Given the description of an element on the screen output the (x, y) to click on. 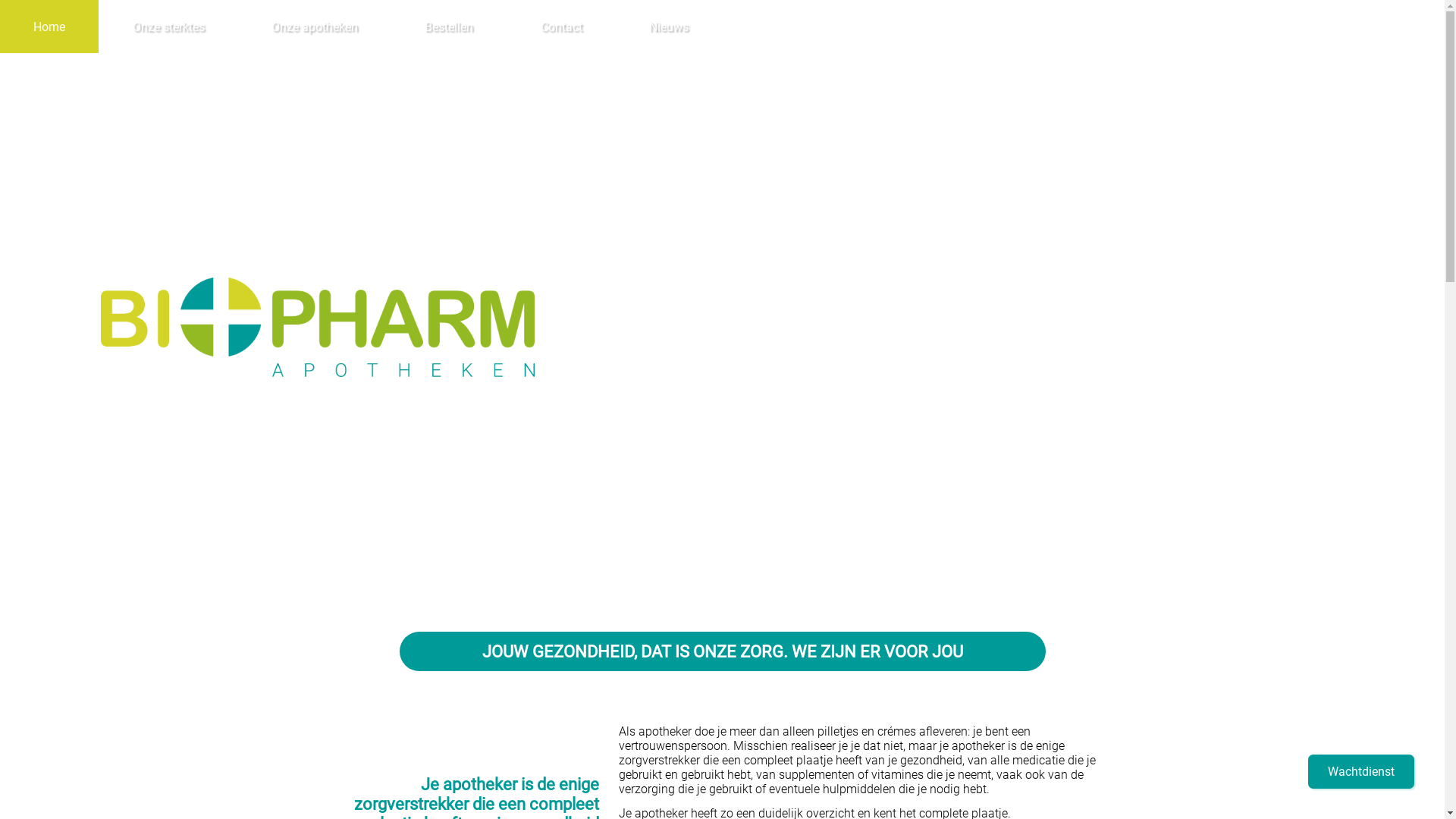
Wachtdienst Element type: text (1360, 771)
Home Element type: text (49, 26)
Bestellen Element type: text (448, 26)
Onze apotheken Element type: text (314, 26)
Onze sterktes Element type: text (167, 26)
Nieuws Element type: text (668, 26)
Contact Element type: text (561, 26)
